Given the description of an element on the screen output the (x, y) to click on. 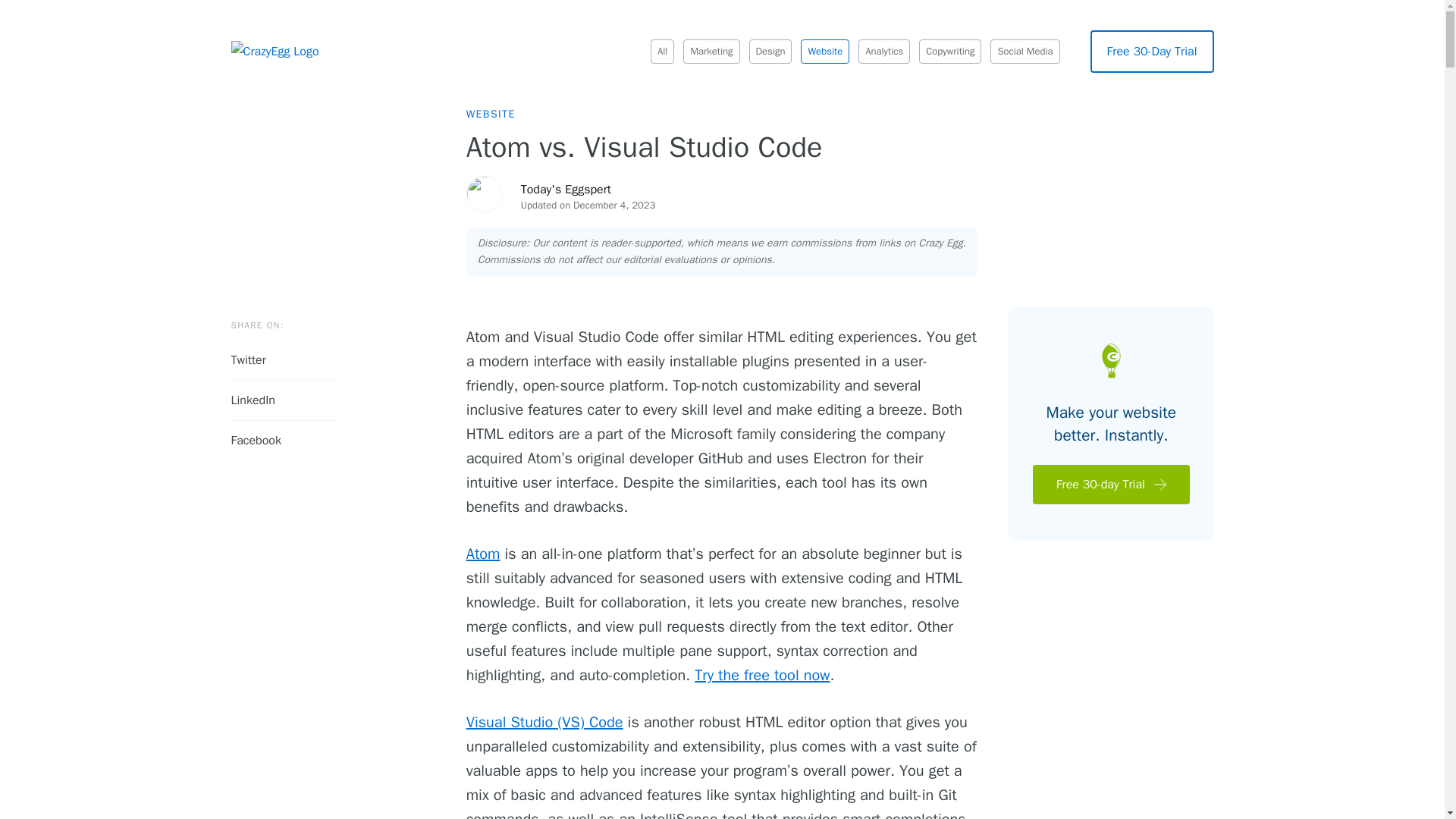
Copywriting (949, 51)
All (662, 51)
WEBSITE (490, 113)
Analytics (884, 51)
Twitter (283, 360)
LinkedIn (283, 400)
Website (824, 51)
Atom (482, 553)
Try the free tool now (761, 674)
Free 30-day Trial (1110, 484)
